Given the description of an element on the screen output the (x, y) to click on. 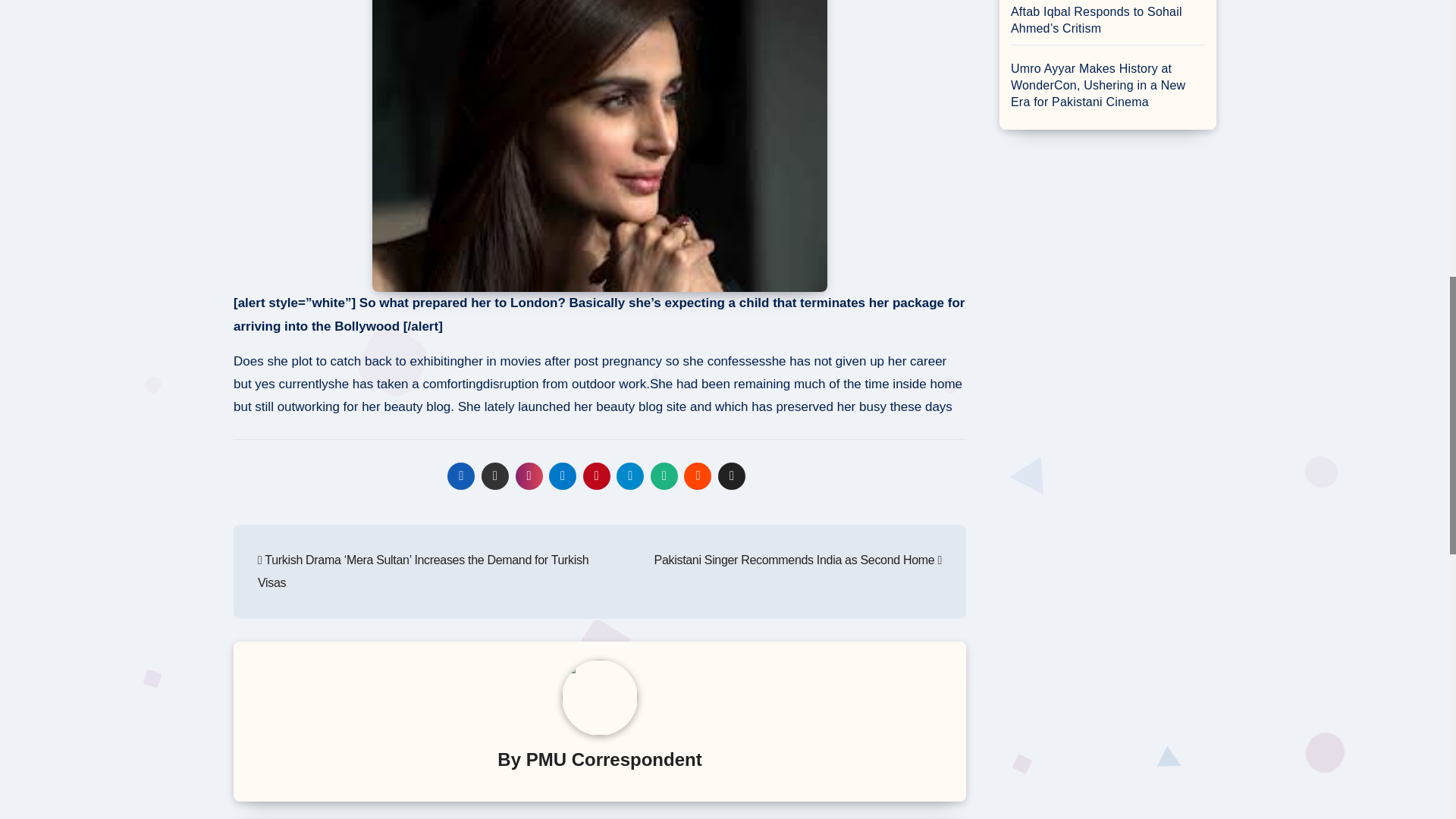
PMU Correspondent (613, 759)
Pakistani Singer Recommends India as Second Home (797, 559)
